Given the description of an element on the screen output the (x, y) to click on. 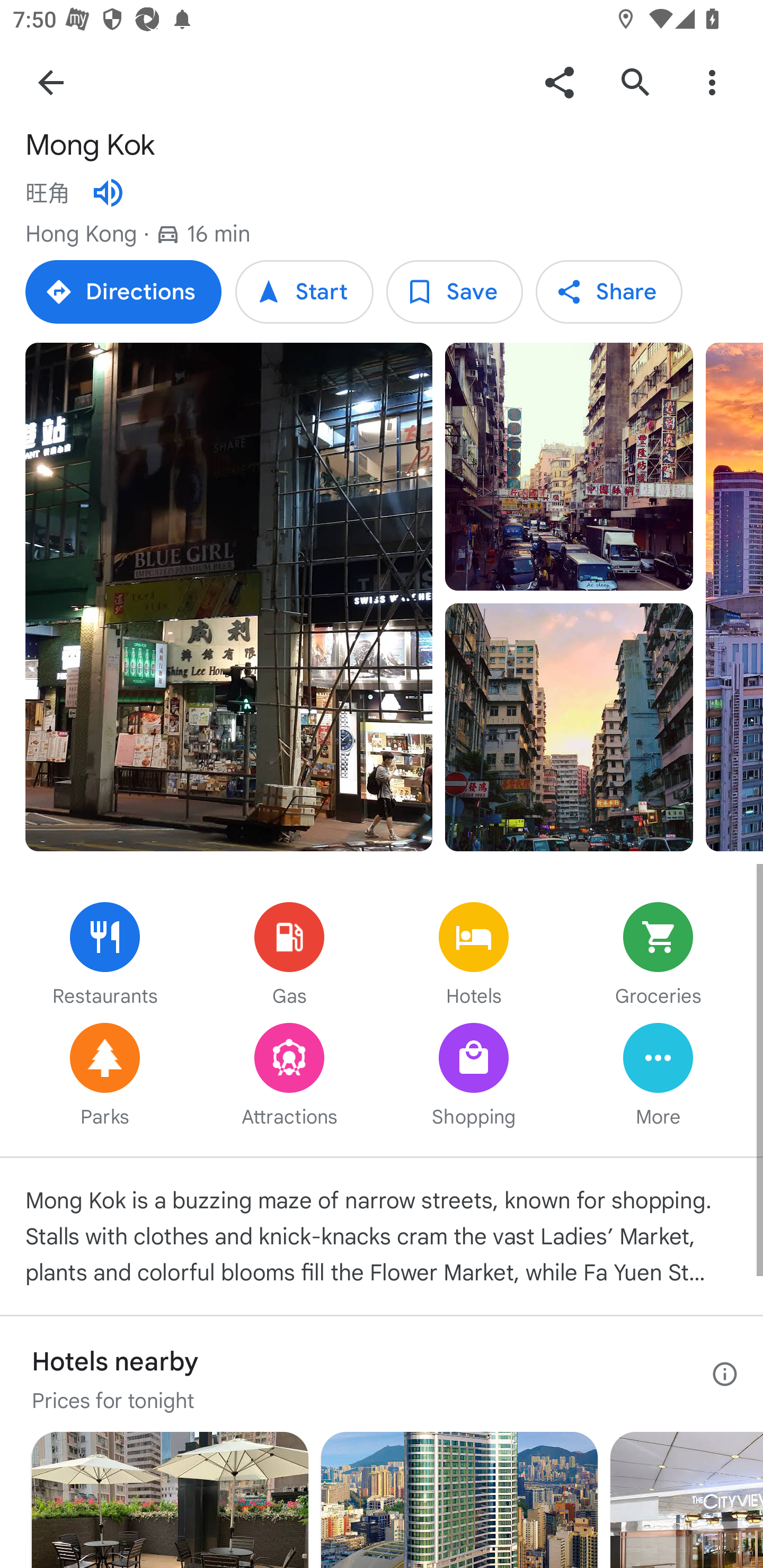
Back to Search (50, 81)
Share (559, 81)
Search (635, 81)
More options for Mong Kok (711, 81)
Play it in Chinese (108, 192)
Start Start Start (304, 291)
Save Mong Kok to lists Save Save Mong Kok to lists (454, 291)
Share Mong Kok Share Share Mong Kok (608, 291)
Photo (228, 597)
Photo (568, 467)
Photo (568, 727)
Restaurants (104, 955)
Gas (288, 955)
Hotels (473, 955)
Groceries (658, 955)
Parks (104, 1076)
Attractions (288, 1076)
Shopping (473, 1076)
More (658, 1076)
About hotel pricing (724, 1373)
